Given the description of an element on the screen output the (x, y) to click on. 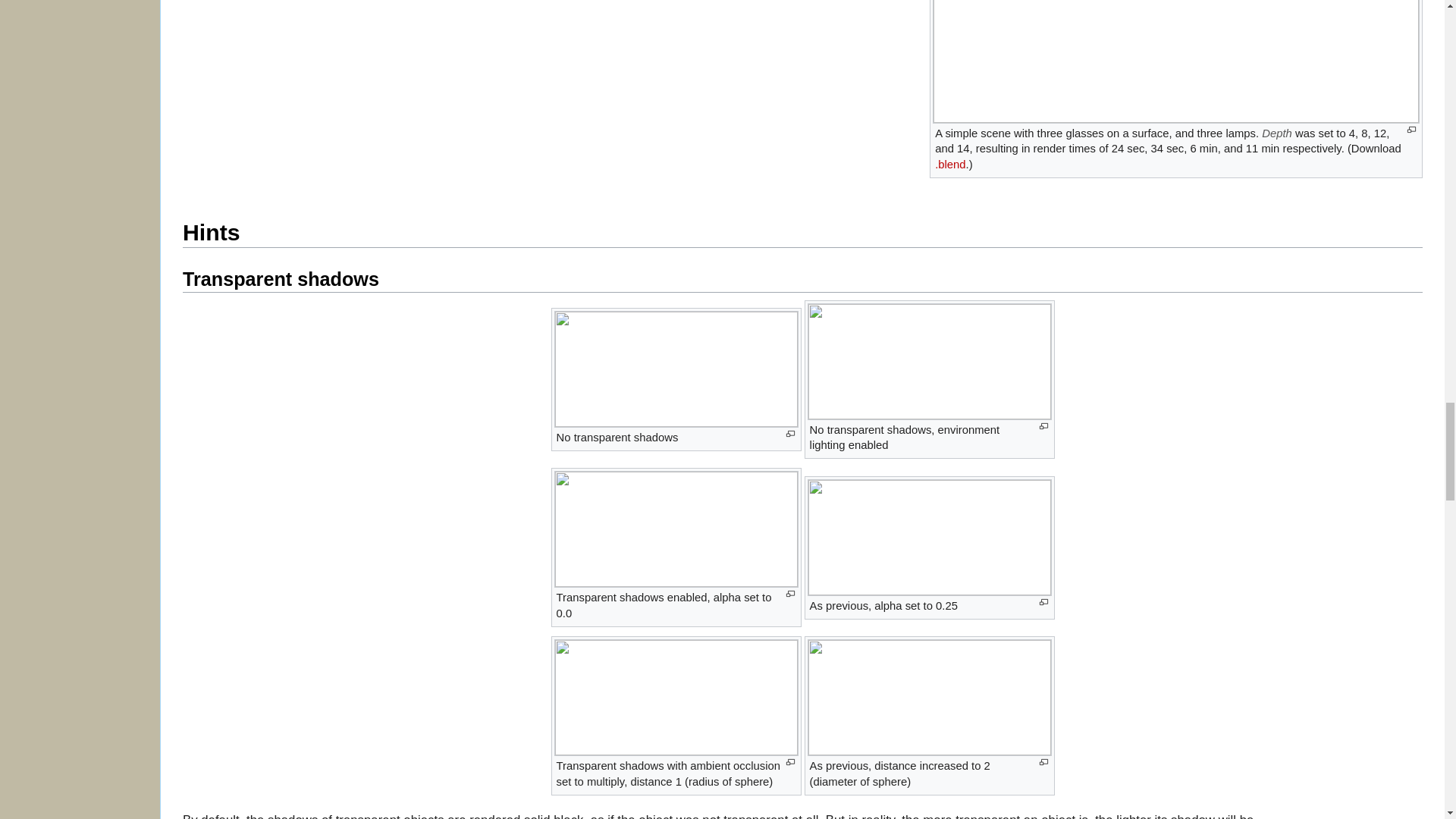
.blend (949, 164)
